Given the description of an element on the screen output the (x, y) to click on. 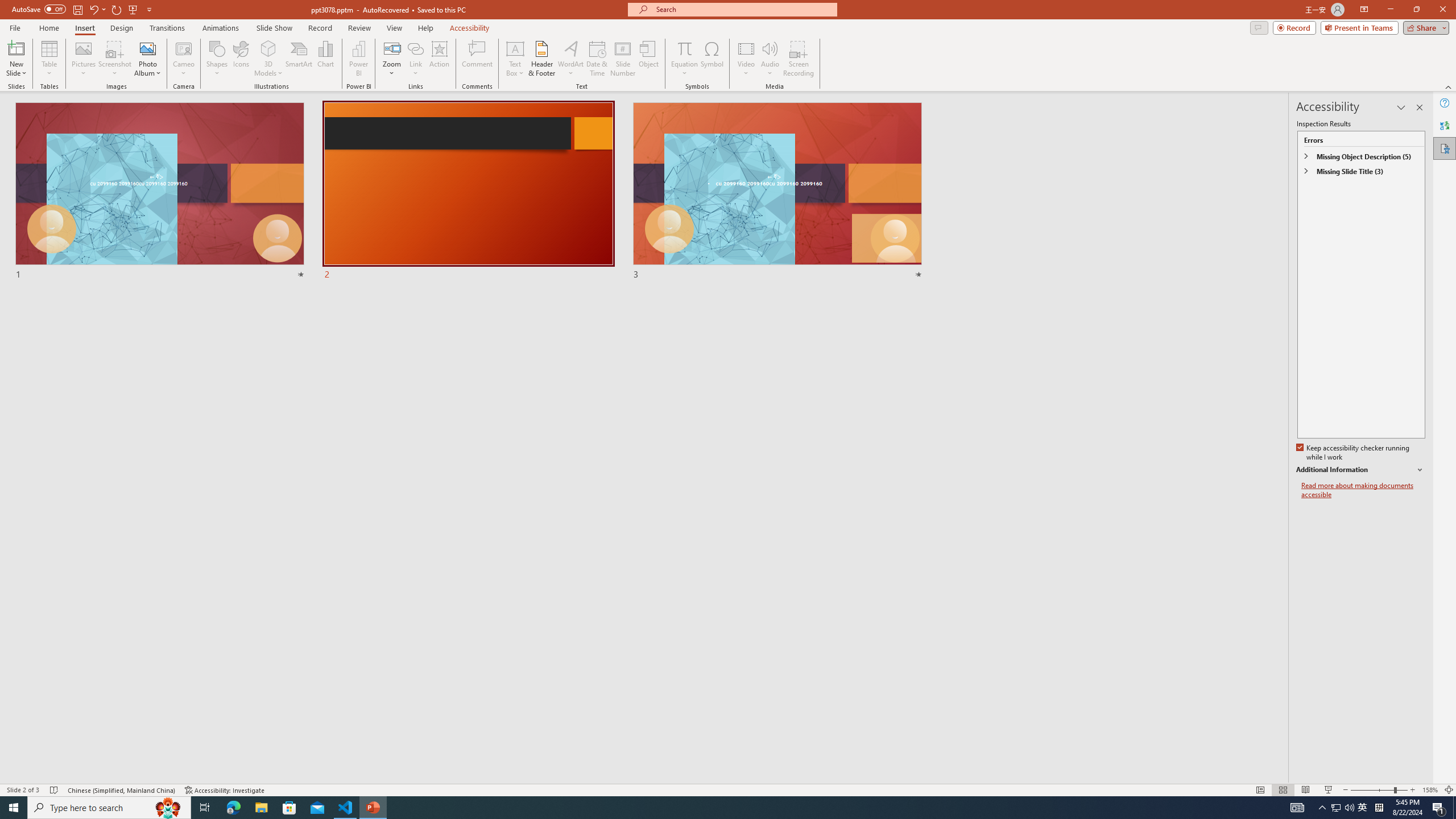
Screen Recording... (798, 58)
Zoom 158% (1430, 790)
